Given the description of an element on the screen output the (x, y) to click on. 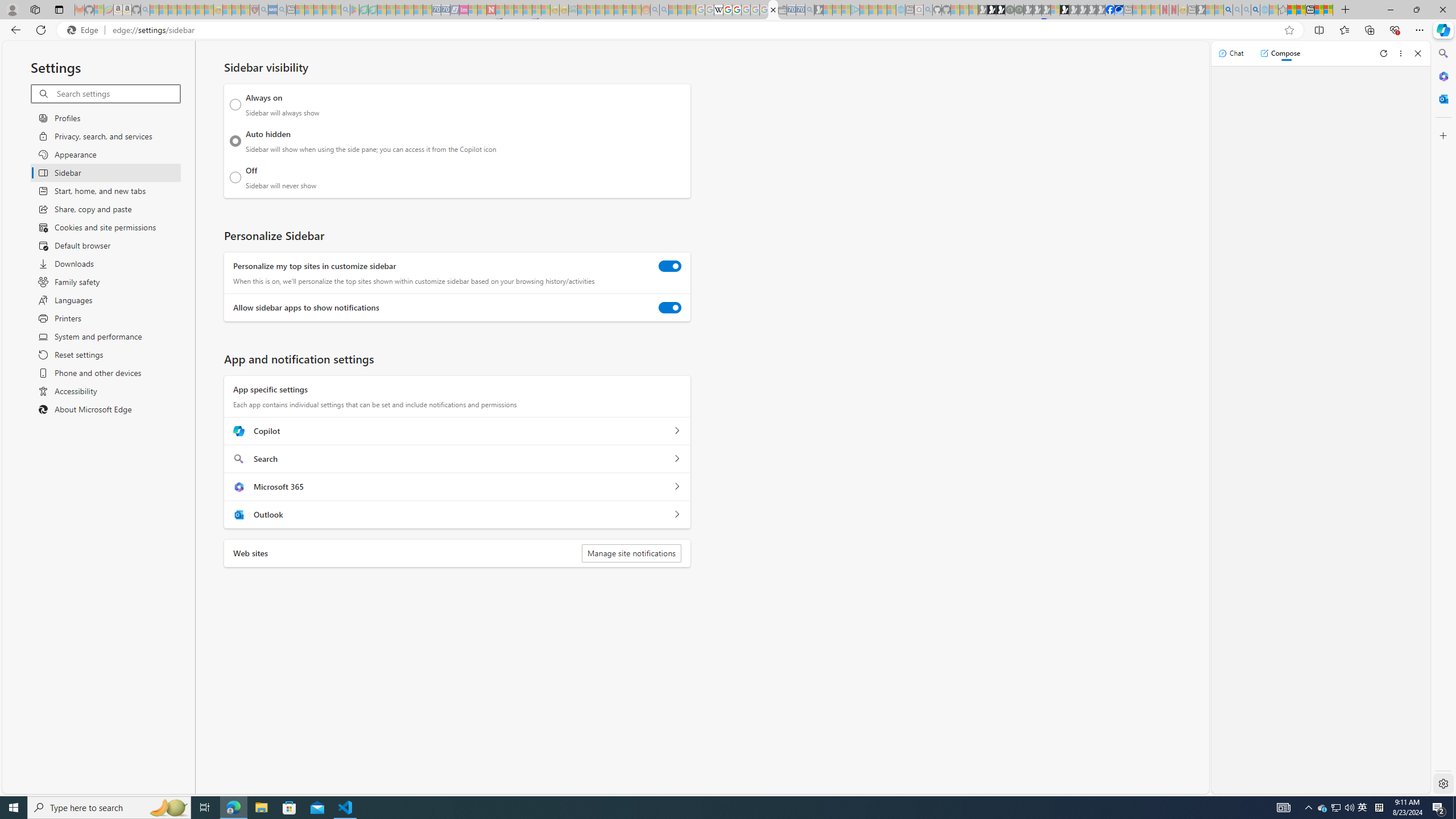
Aberdeen, Hong Kong SAR weather forecast | Microsoft Weather (1300, 9)
AirNow.gov (1118, 9)
MSN - Sleeping (1200, 9)
